Given the description of an element on the screen output the (x, y) to click on. 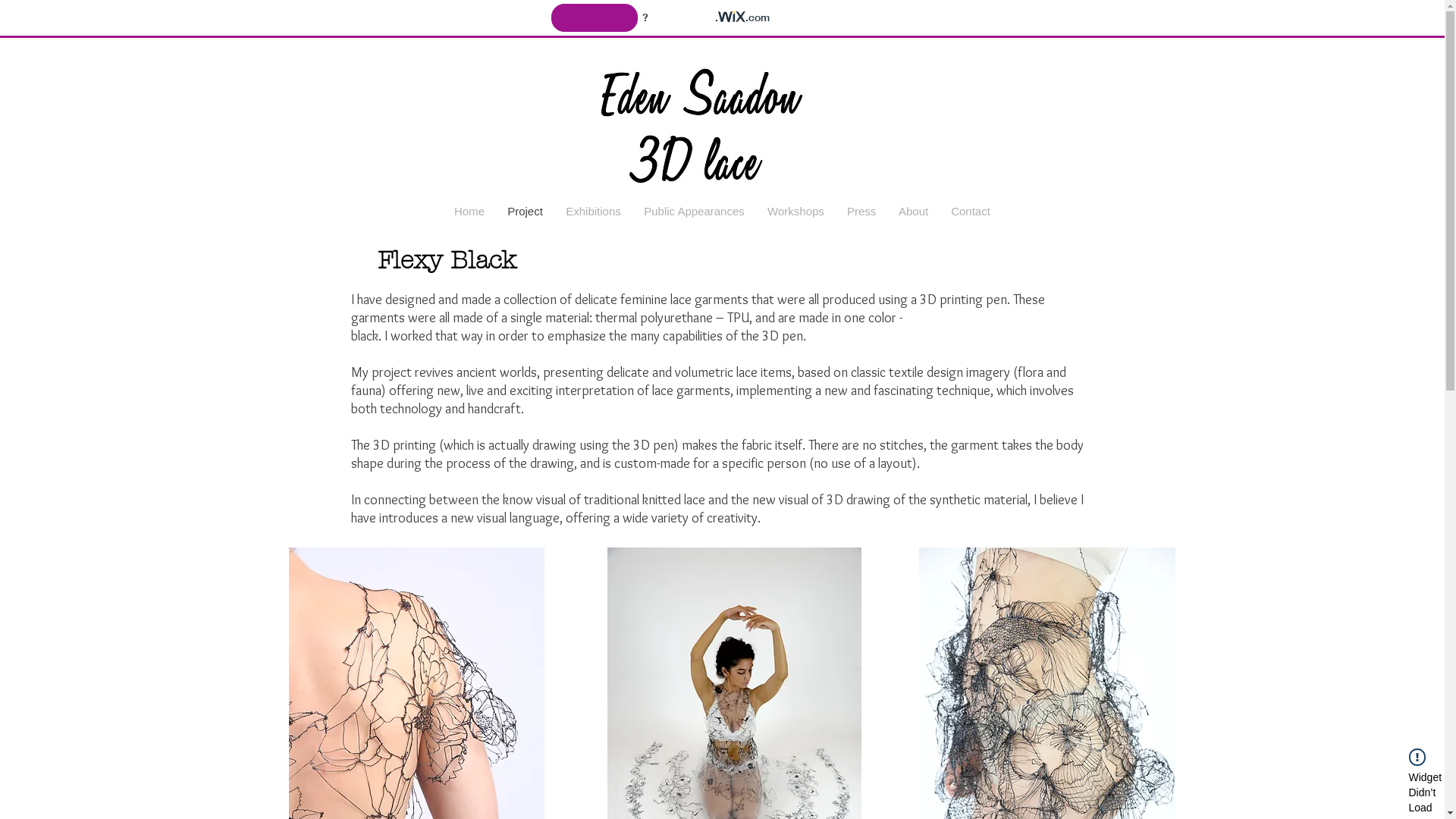
Project Element type: text (524, 211)
About Element type: text (913, 211)
Press Element type: text (861, 211)
Public Appearances Element type: text (694, 211)
Eden Saadon Element type: text (722, 114)
Home Element type: text (468, 211)
Workshops Element type: text (795, 211)
Contact Element type: text (970, 211)
Exhibitions Element type: text (593, 211)
